Given the description of an element on the screen output the (x, y) to click on. 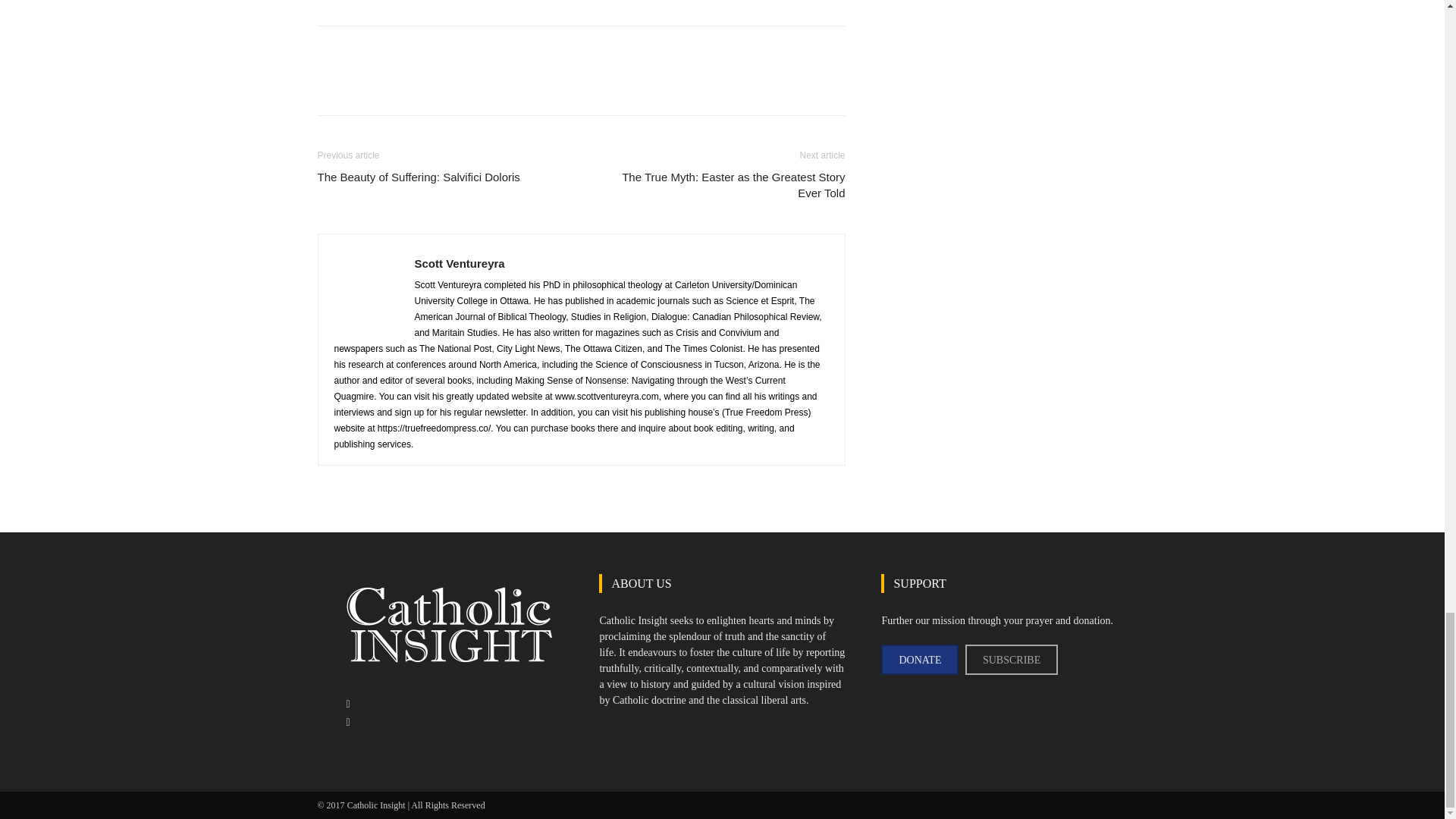
bottomFacebookLike (430, 50)
